Given the description of an element on the screen output the (x, y) to click on. 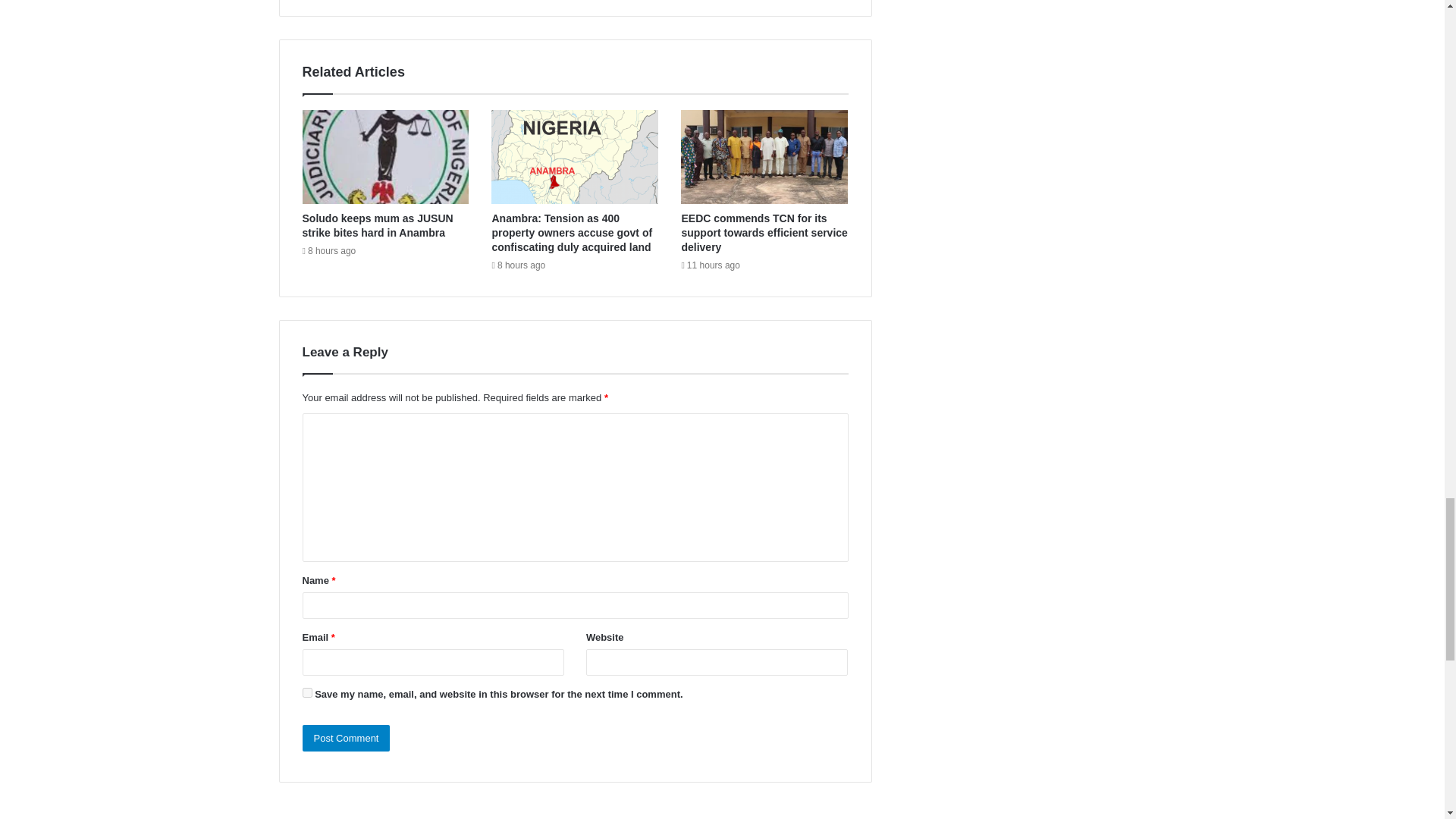
Post Comment (345, 737)
yes (306, 692)
